Given the description of an element on the screen output the (x, y) to click on. 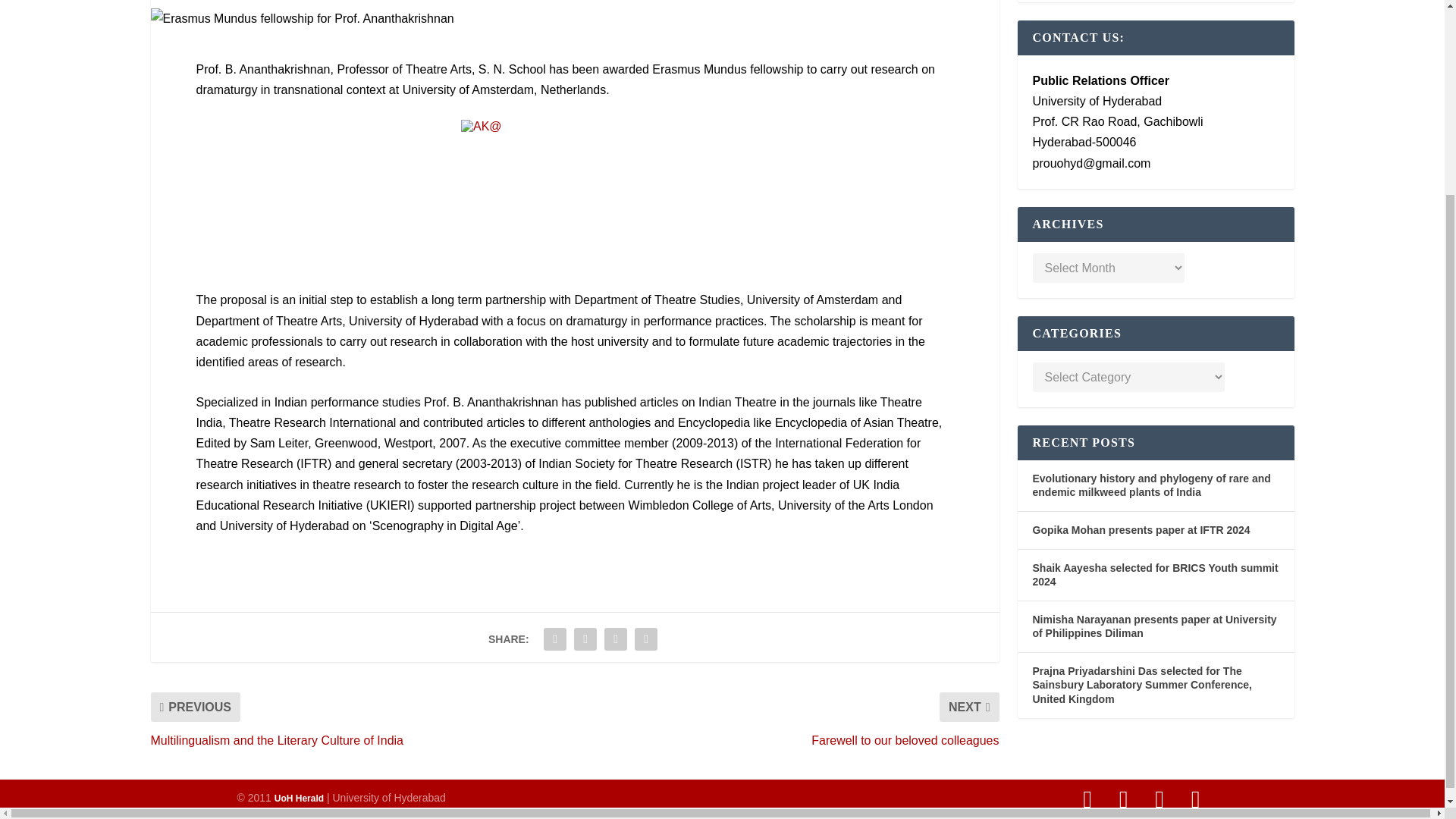
Gopika Mohan presents paper at IFTR 2024 (1141, 530)
Shaik Aayesha selected for BRICS Youth summit 2024 (1155, 574)
UoH Herald (299, 798)
